Given the description of an element on the screen output the (x, y) to click on. 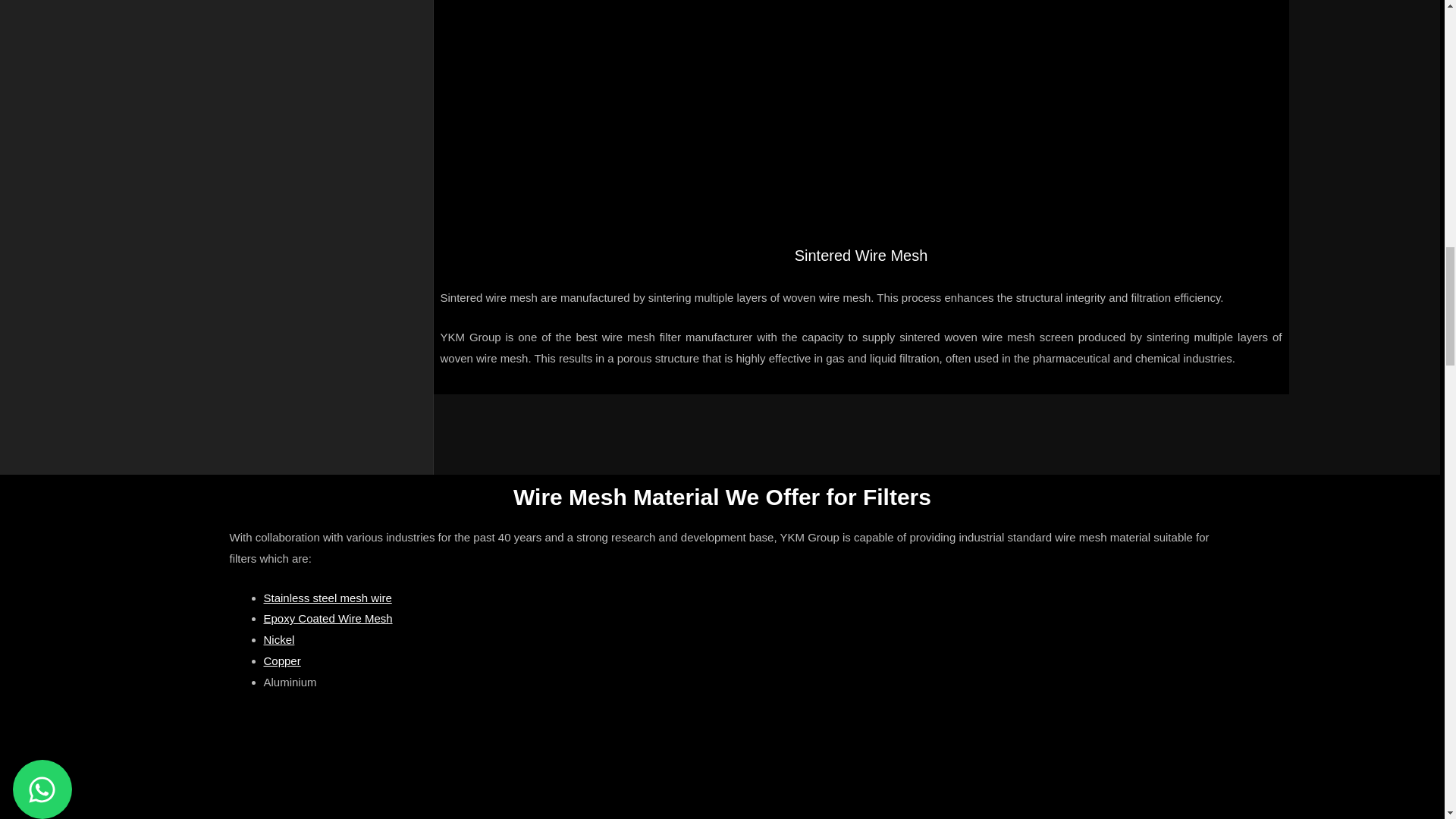
Woven Wire mesh filter (930, 771)
